Given the description of an element on the screen output the (x, y) to click on. 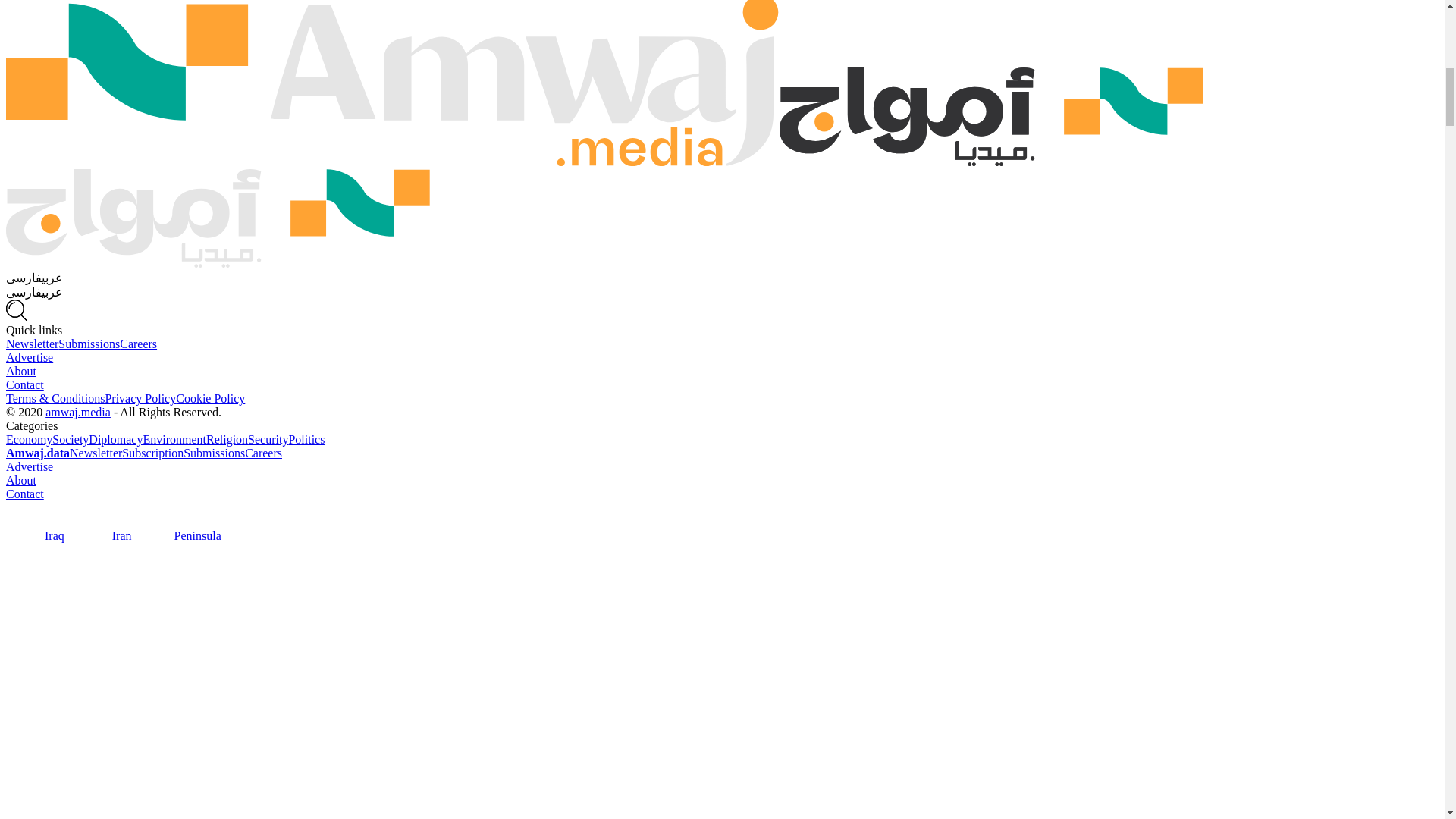
Religion (226, 439)
Newsletter (95, 452)
Careers (263, 452)
Economy (28, 439)
Submissions (88, 343)
Cookie Policy (210, 398)
Newsletter (31, 343)
Careers (138, 343)
Diplomacy (115, 439)
Environment (174, 439)
Privacy Policy (140, 398)
Society (70, 439)
Subscription (152, 452)
amwaj.media (77, 411)
Amwaj.data (37, 452)
